Given the description of an element on the screen output the (x, y) to click on. 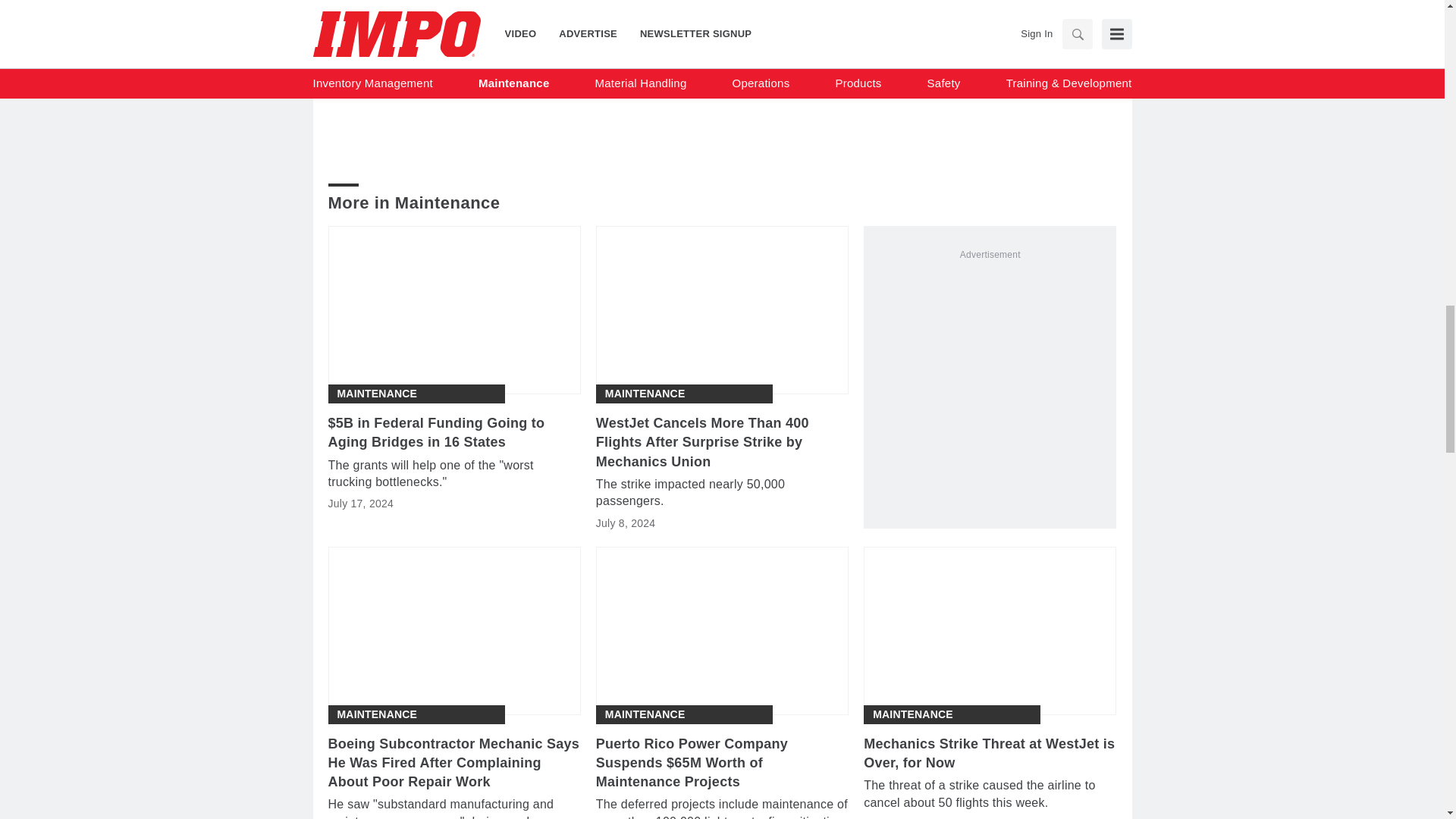
Maintenance (376, 393)
Maintenance (645, 393)
Maintenance (376, 714)
